Given the description of an element on the screen output the (x, y) to click on. 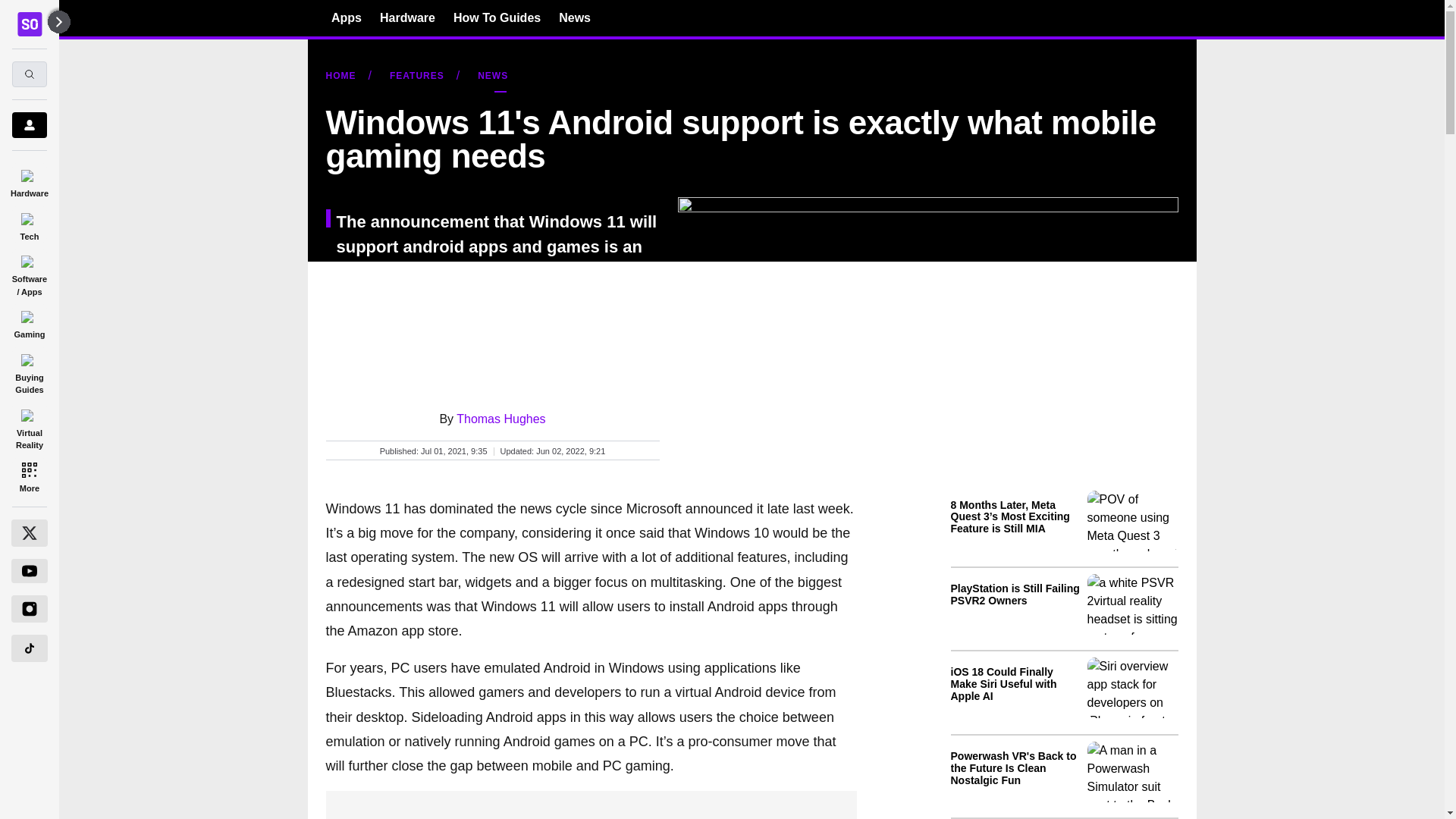
Hardware (407, 18)
Apps (346, 18)
Buying Guides (28, 371)
News (575, 18)
Gaming (28, 322)
Latest News (1063, 651)
More (28, 476)
Hardware (28, 180)
Virtual Reality (28, 426)
How To Guides (496, 18)
Tech (28, 224)
